Given the description of an element on the screen output the (x, y) to click on. 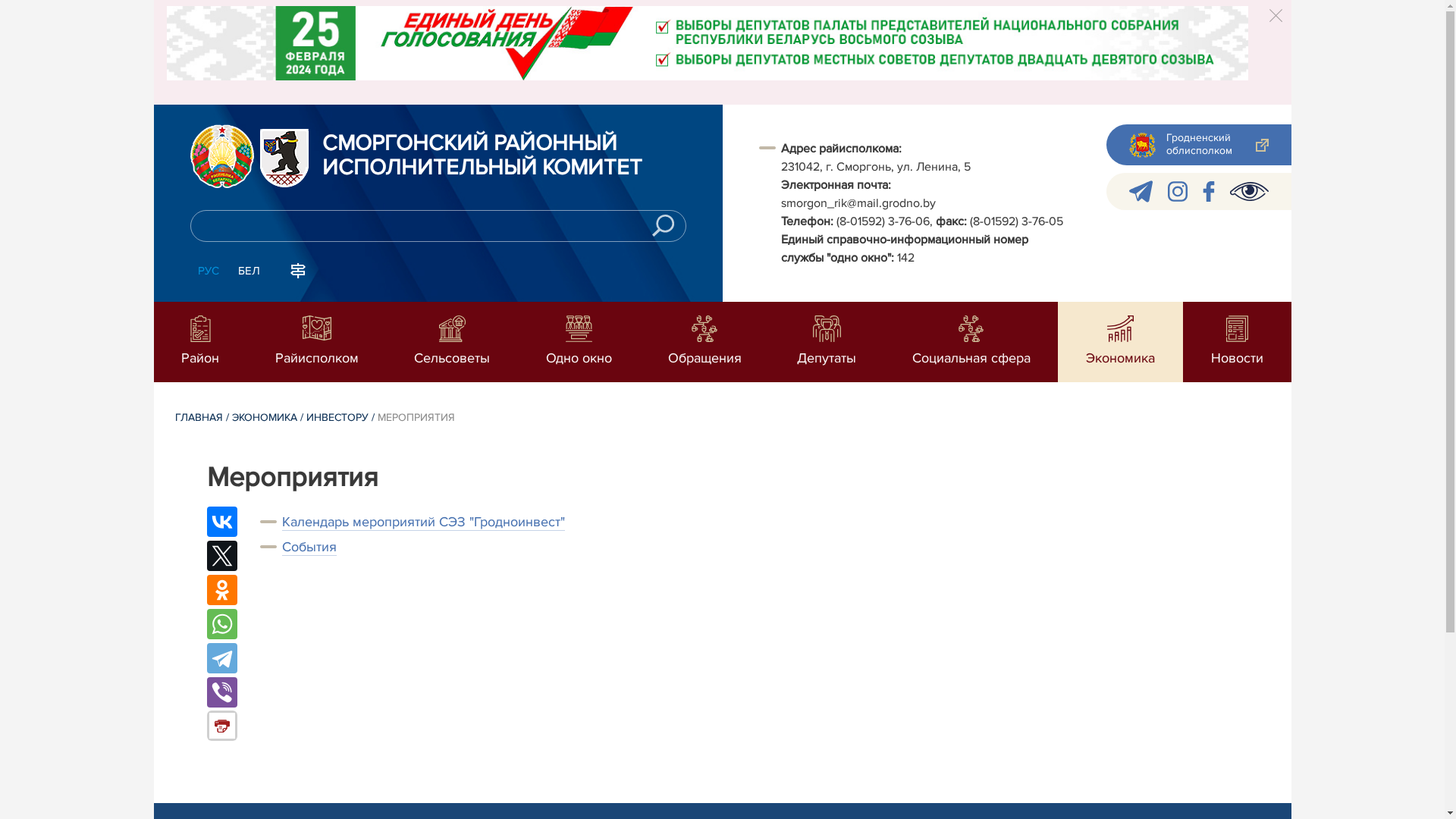
facebook Element type: hover (1208, 191)
Viber Element type: hover (221, 692)
WhatsApp Element type: hover (221, 623)
instagram Element type: hover (1177, 191)
Telegram Element type: hover (221, 658)
telegram Element type: hover (1139, 191)
Twitter Element type: hover (221, 555)
